Given the description of an element on the screen output the (x, y) to click on. 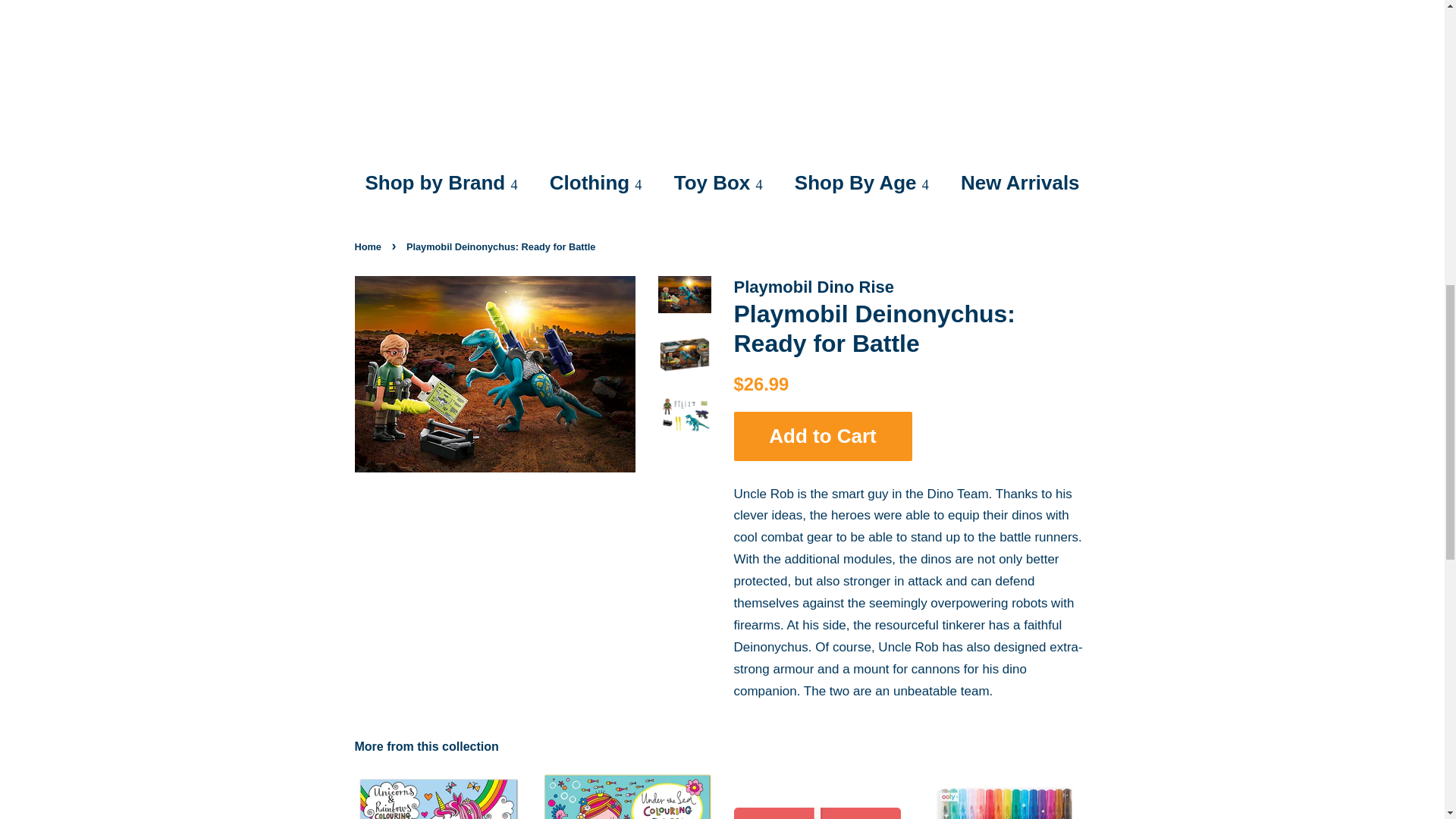
Back to the frontpage (370, 246)
